Given the description of an element on the screen output the (x, y) to click on. 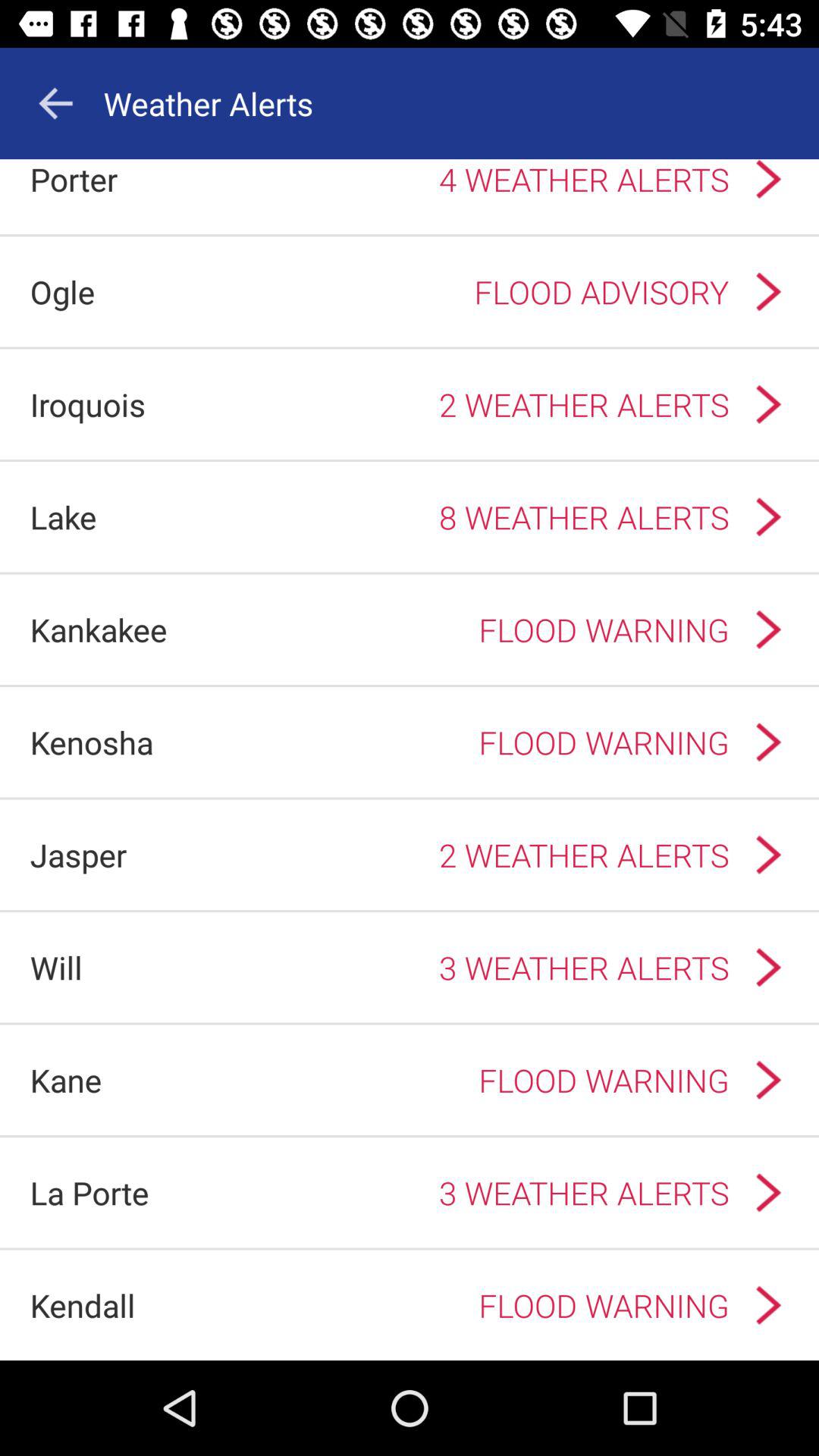
press the icon to the left of flood warning (65, 1079)
